Given the description of an element on the screen output the (x, y) to click on. 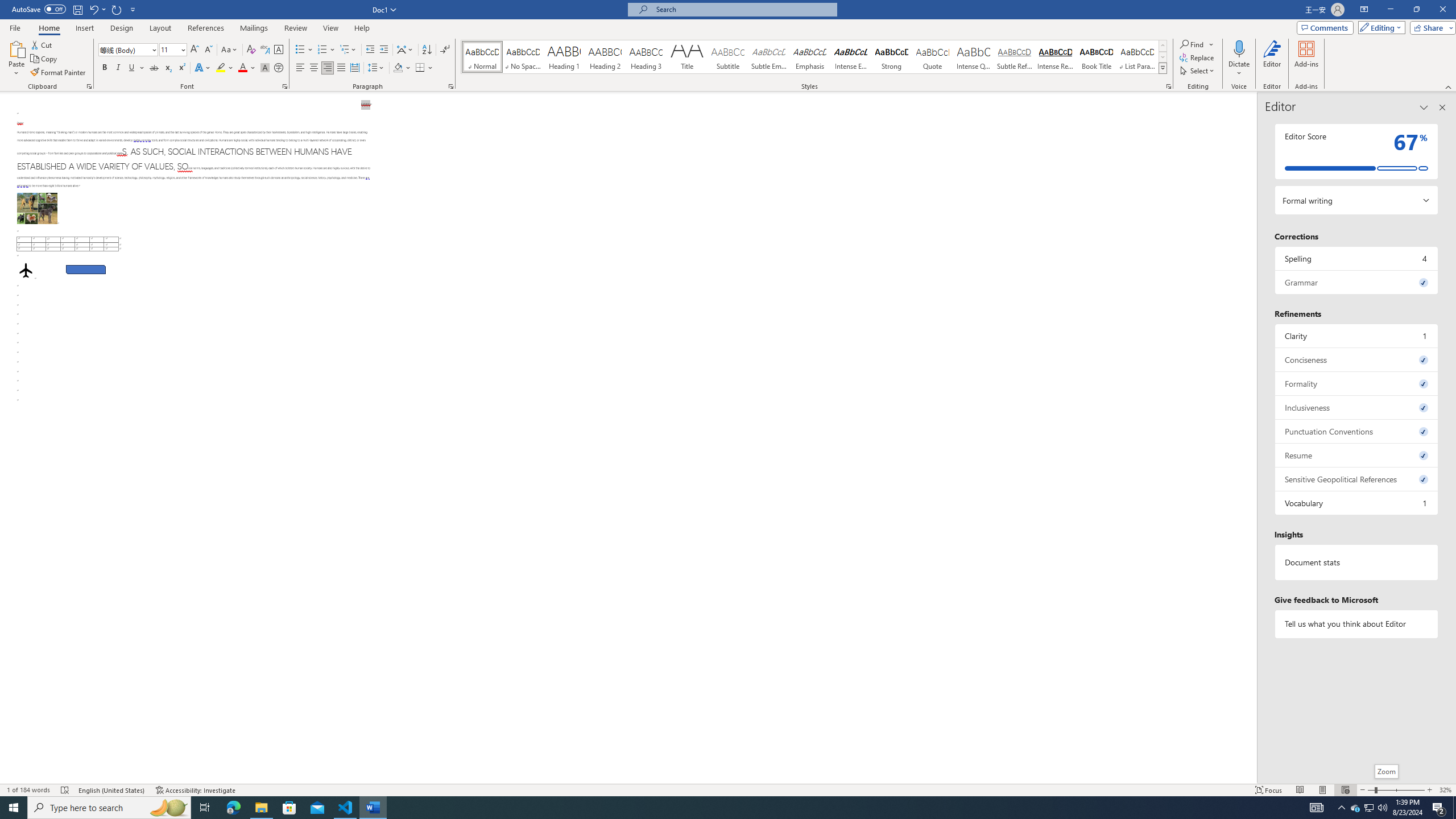
Font Color Red (241, 67)
Zoom 32% (1445, 790)
Word Count 1 of 184 words (28, 790)
Grammar, 0 issues. Press space or enter to review items. (1356, 282)
